Given the description of an element on the screen output the (x, y) to click on. 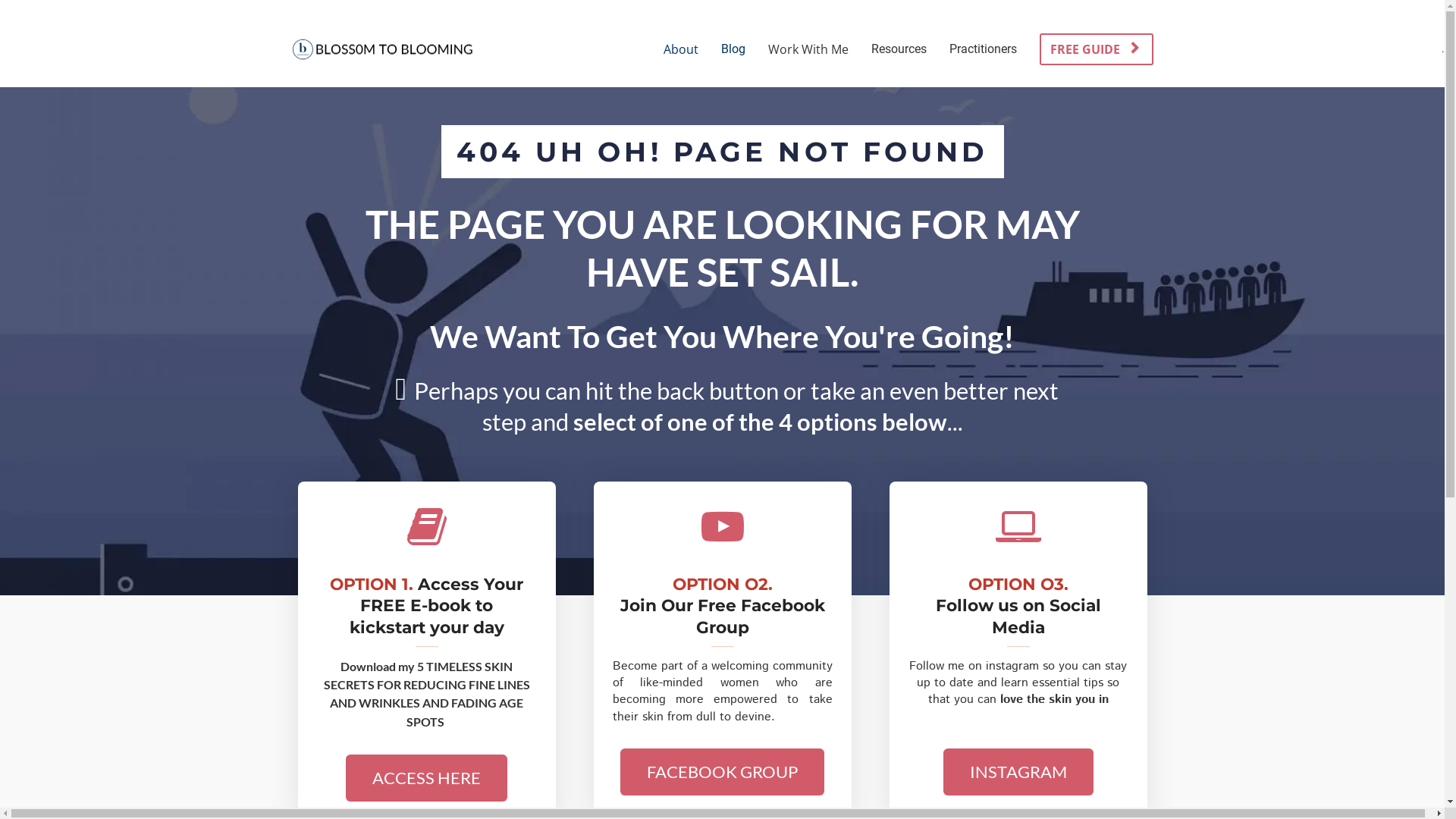
ACCESS HERE Element type: text (426, 777)
FREE GUIDE Element type: text (1095, 49)
Work With Me Element type: text (807, 49)
Resources Element type: text (898, 49)
Practitioners Element type: text (982, 49)
FACEBOOK GROUP Element type: text (722, 771)
About Element type: text (680, 49)
Blog Element type: text (732, 49)
INSTAGRAM Element type: text (1018, 771)
